Given the description of an element on the screen output the (x, y) to click on. 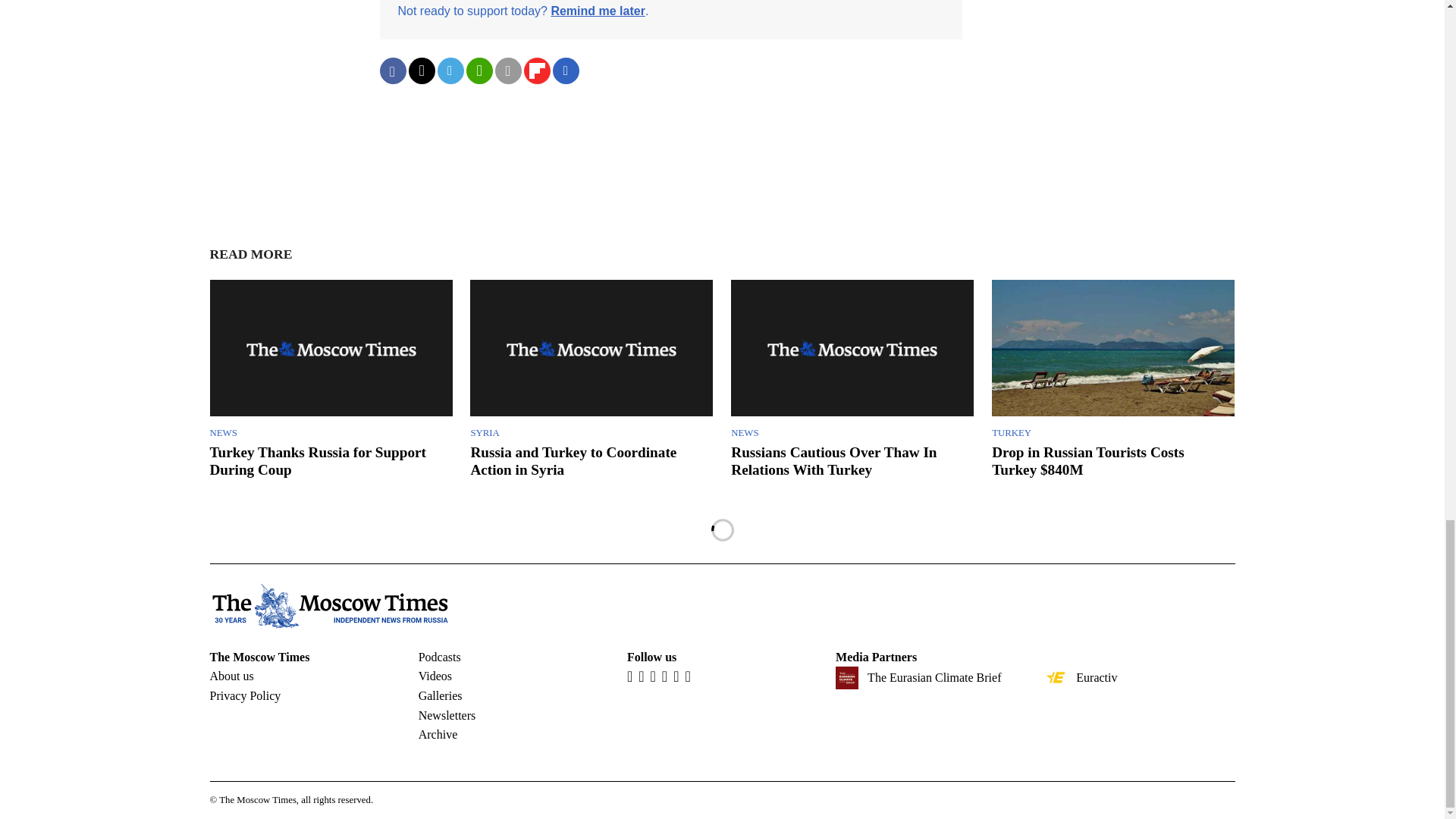
Share on Twitter (420, 70)
Share on Telegram (449, 70)
Share on Facebook (392, 70)
Share on Flipboard (536, 70)
